Given the description of an element on the screen output the (x, y) to click on. 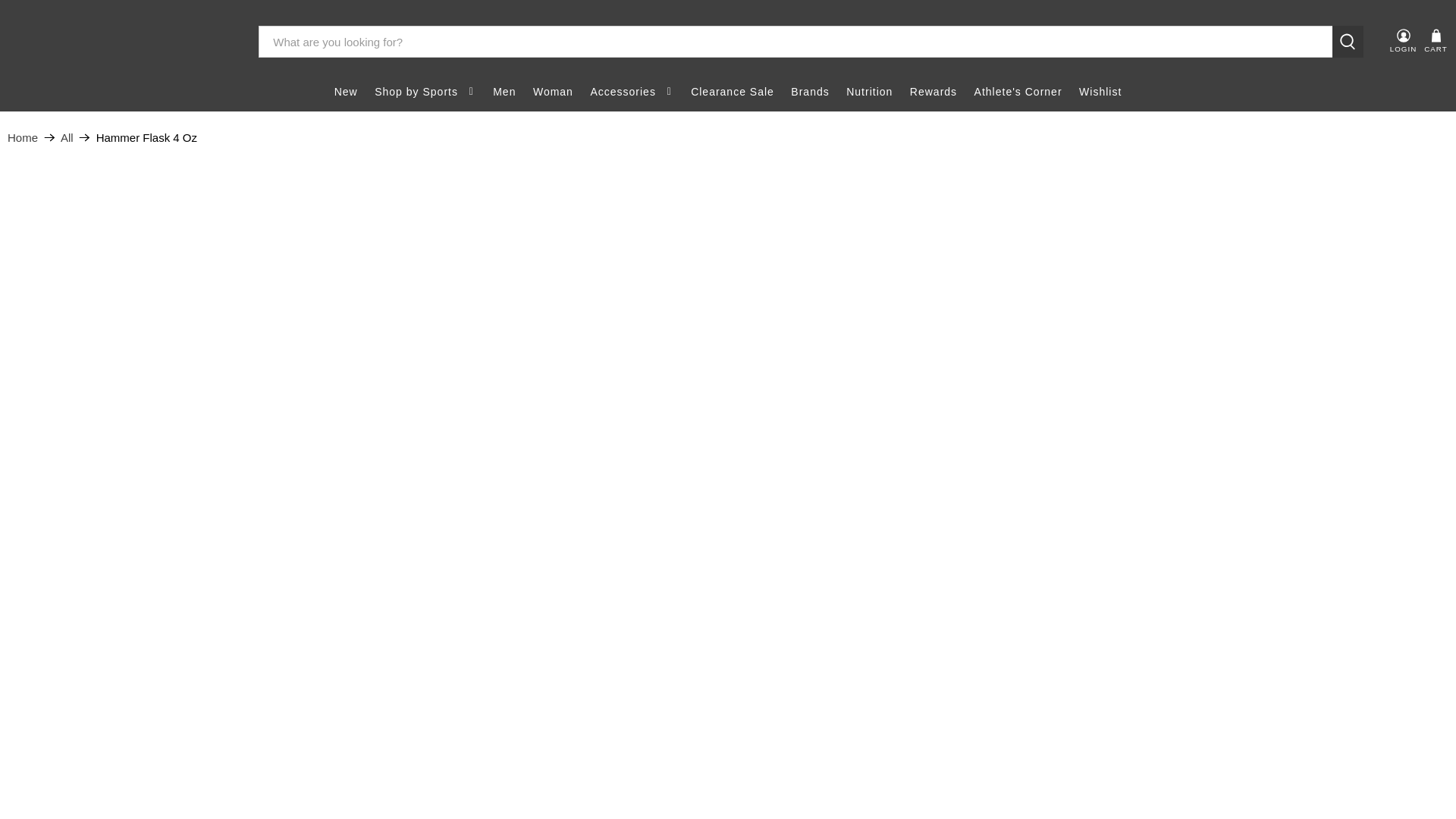
New (345, 91)
Accessories (631, 91)
Shop by Sports (425, 91)
Clearance Sale (732, 91)
The Athlete's Foot (22, 137)
Men (504, 91)
The Athlete's Foot (121, 42)
Brands (810, 91)
Nutrition (869, 91)
Woman (552, 91)
